Given the description of an element on the screen output the (x, y) to click on. 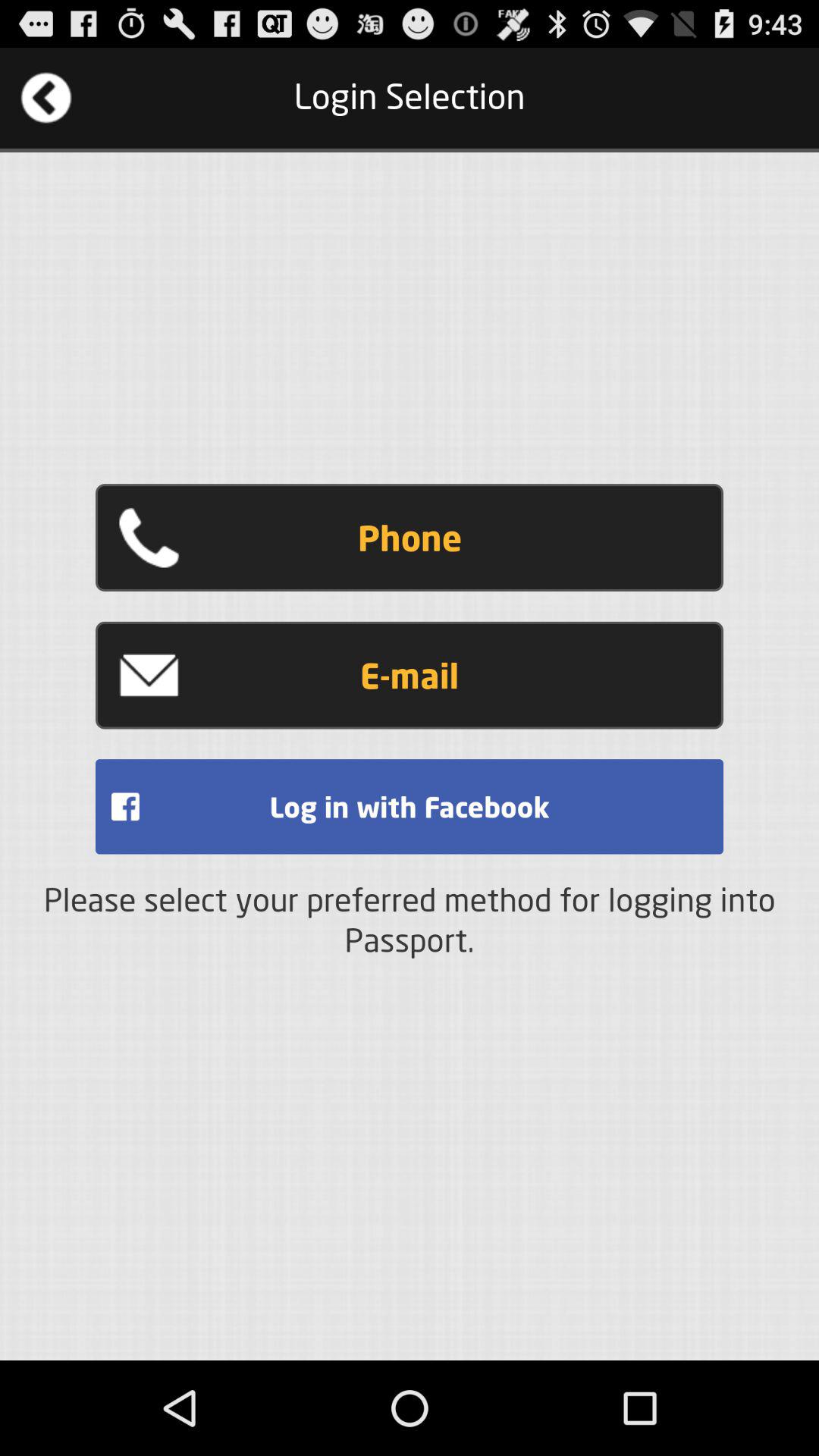
tap the icon at the top left corner (45, 97)
